Given the description of an element on the screen output the (x, y) to click on. 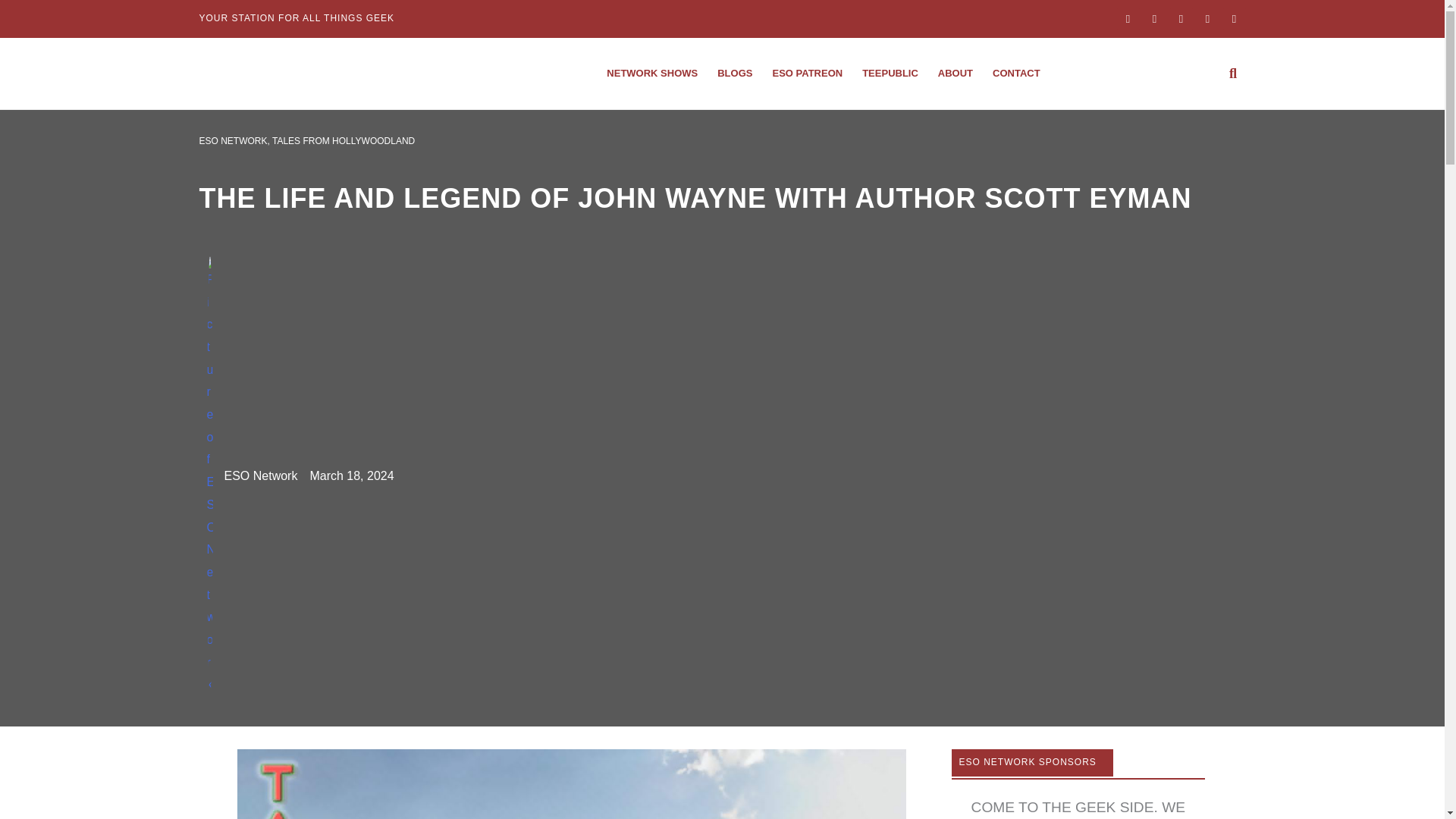
ESO NETWORK (232, 140)
Instagram (1154, 18)
ABOUT (955, 73)
Facebook-f (1127, 18)
Pinterest-p (1233, 18)
Patreon (806, 73)
NETWORK SHOWS (651, 73)
ESO PATREON (806, 73)
Twitter (1180, 18)
CONTACT (1015, 73)
Youtube (1208, 18)
TEEPUBLIC (889, 73)
BLOGS (734, 73)
